Given the description of an element on the screen output the (x, y) to click on. 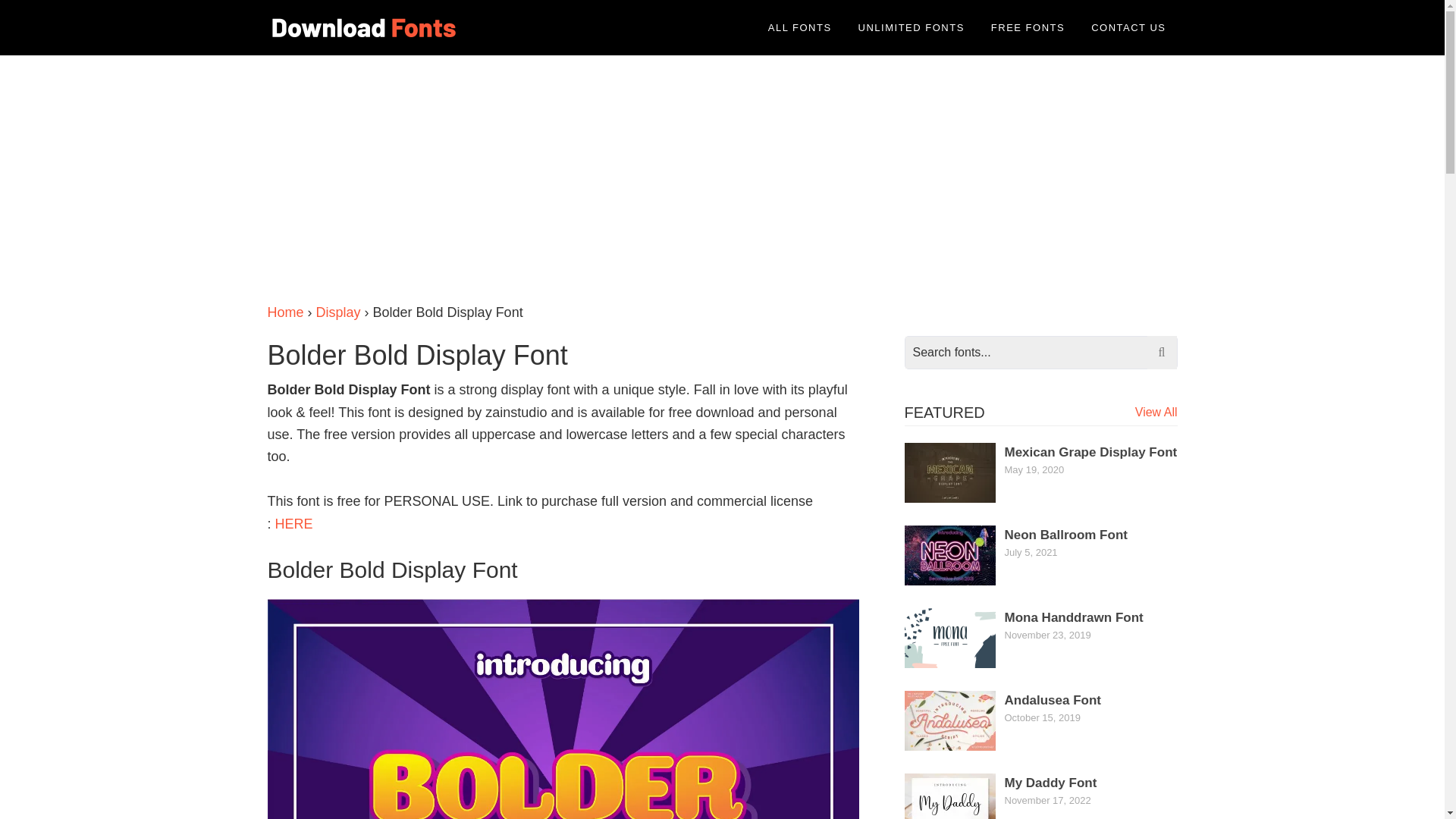
HERE (294, 523)
CONTACT US (1128, 27)
Display (338, 312)
FREE FONTS (1027, 27)
UNLIMITED FONTS (911, 27)
Home (284, 312)
ALL FONTS (800, 27)
